Given the description of an element on the screen output the (x, y) to click on. 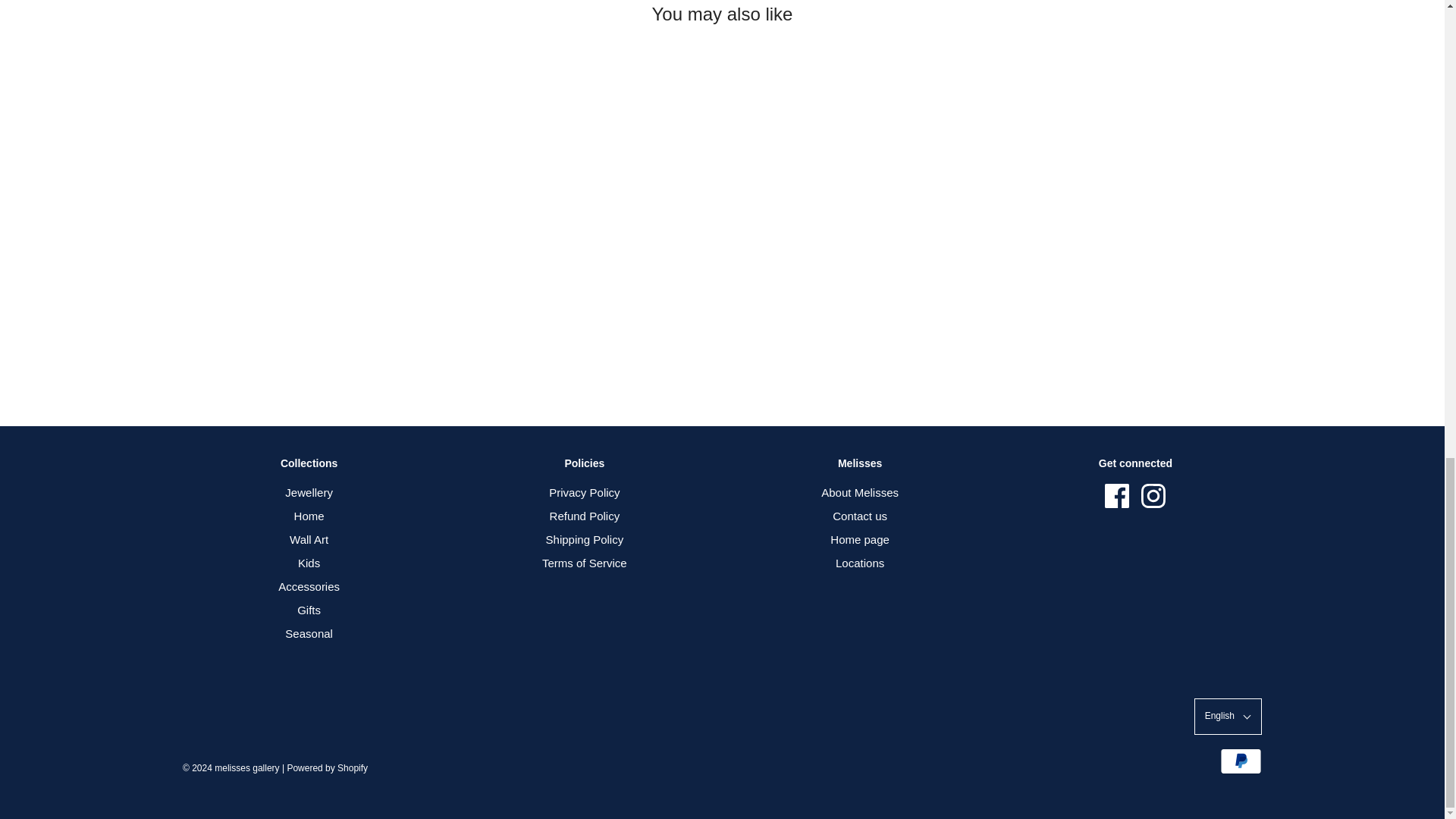
PayPal (1241, 761)
Instagram icon (1153, 495)
Facebook icon (1117, 495)
